Given the description of an element on the screen output the (x, y) to click on. 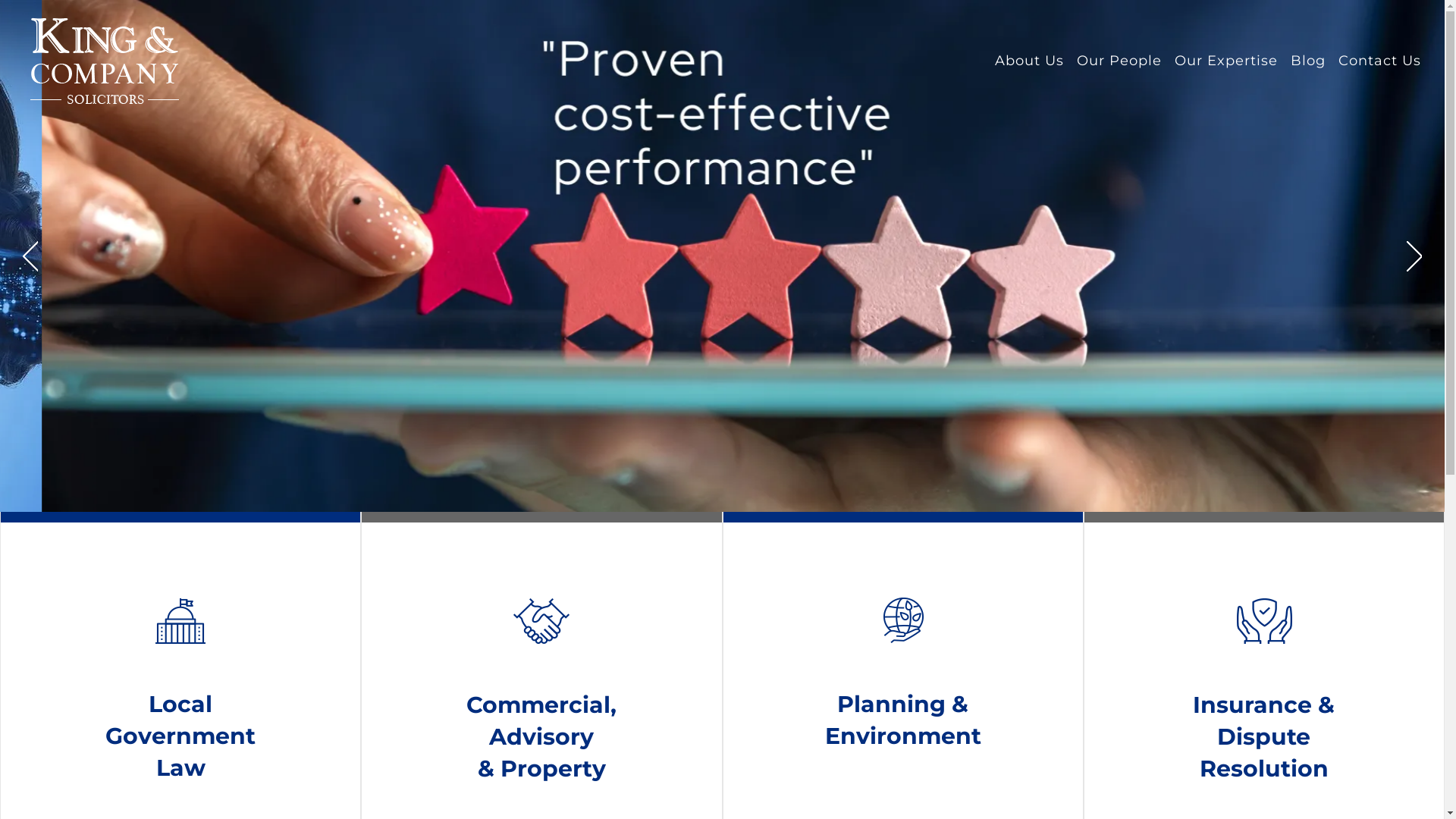
Insurance &
Dispute
Resolution Element type: text (1263, 738)
Previous Element type: text (29, 256)
Commercial,
Advisory
& Property Element type: text (541, 738)
Contact Us Element type: text (1379, 60)
Local
Government
Law Element type: text (180, 738)
Blog Element type: text (1307, 60)
Next Element type: text (1413, 256)
About Us Element type: text (1029, 60)
Our Expertise Element type: text (1225, 60)
Our People Element type: text (1119, 60)
King & Company Solicitors Element type: hover (104, 59)
Planning &
Environment Element type: text (903, 722)
